Given the description of an element on the screen output the (x, y) to click on. 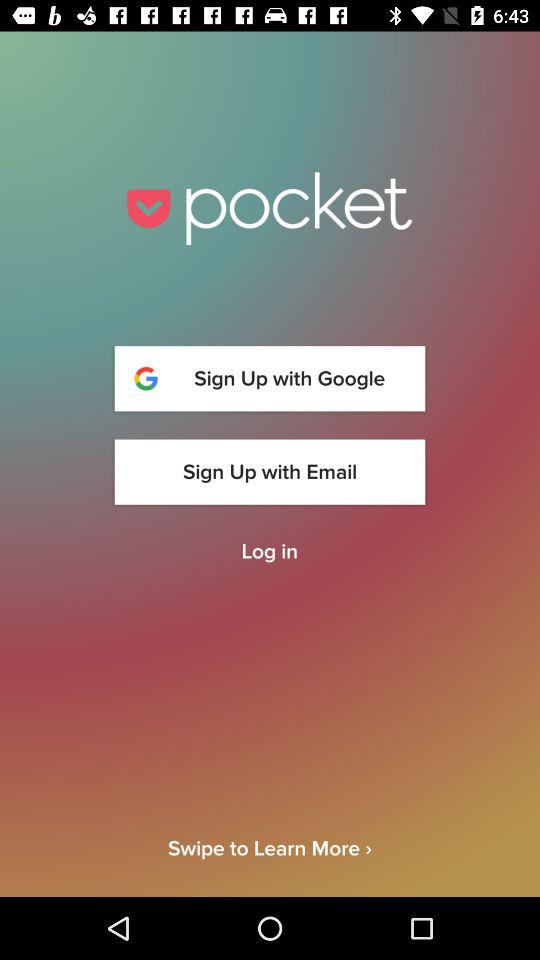
turn on the icon below log in icon (270, 866)
